Given the description of an element on the screen output the (x, y) to click on. 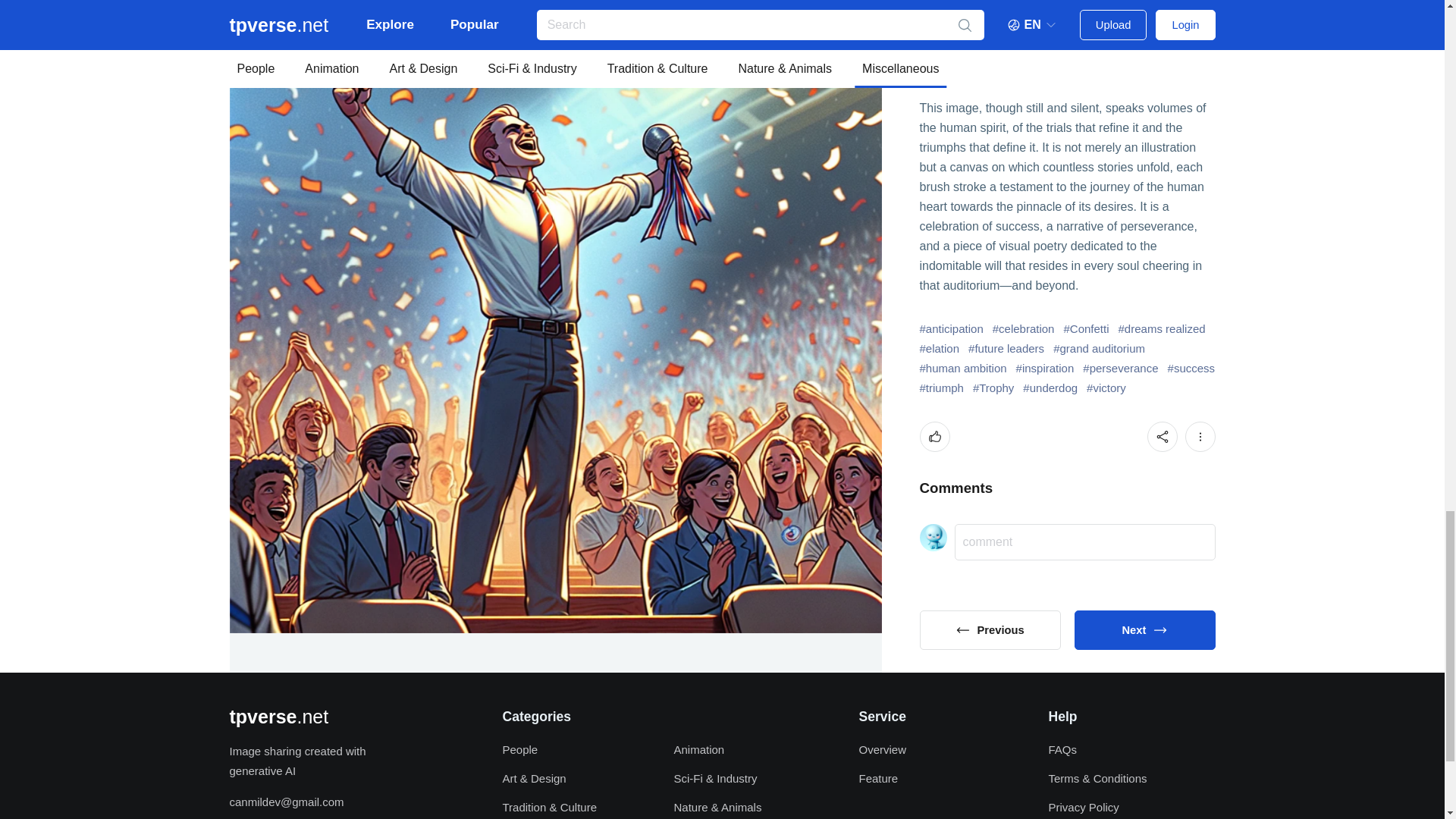
Trophy (992, 388)
elation (938, 348)
future leaders (1005, 348)
dreams realized (1161, 329)
triumph (940, 388)
grand auditorium (1098, 348)
Whispers of the Starlit Assembly (1144, 630)
Twilight Kingdom: Echoes of the Night (988, 630)
celebration (1023, 329)
anticipation (950, 329)
